Given the description of an element on the screen output the (x, y) to click on. 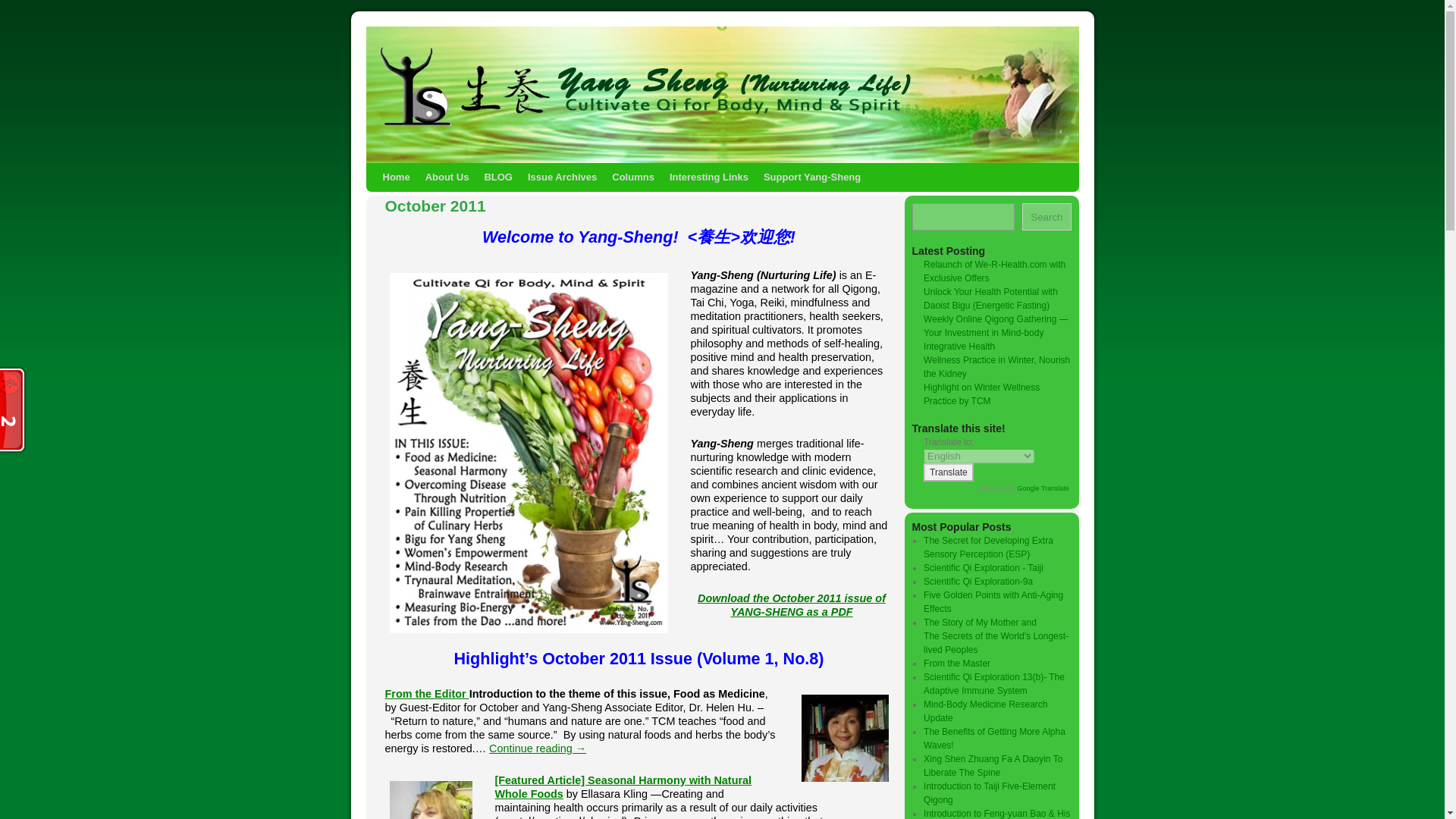
Picture1 (844, 738)
Translate (948, 472)
Ellasara Kling (431, 797)
BLOG (497, 176)
Issue Archives (561, 176)
About Us (447, 176)
Home (395, 176)
